Given the description of an element on the screen output the (x, y) to click on. 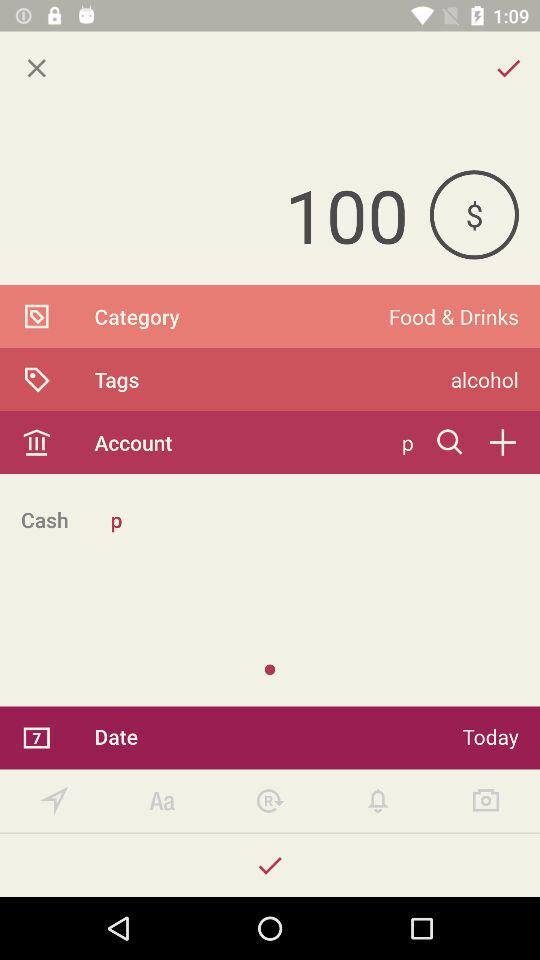
search query (450, 442)
